Given the description of an element on the screen output the (x, y) to click on. 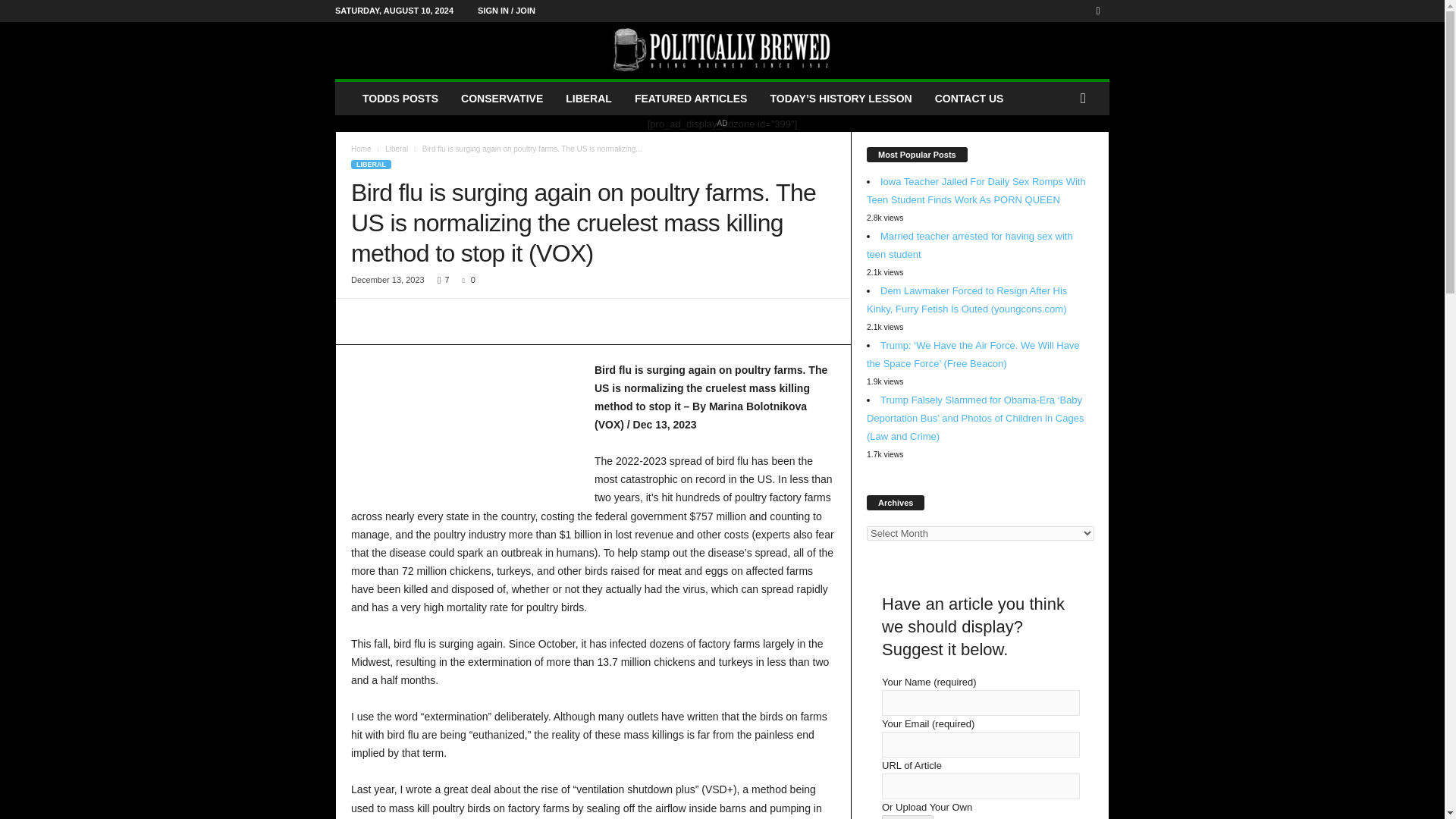
Politically Brewed (721, 50)
TODDS POSTS (399, 98)
CONSERVATIVE (501, 98)
